Given the description of an element on the screen output the (x, y) to click on. 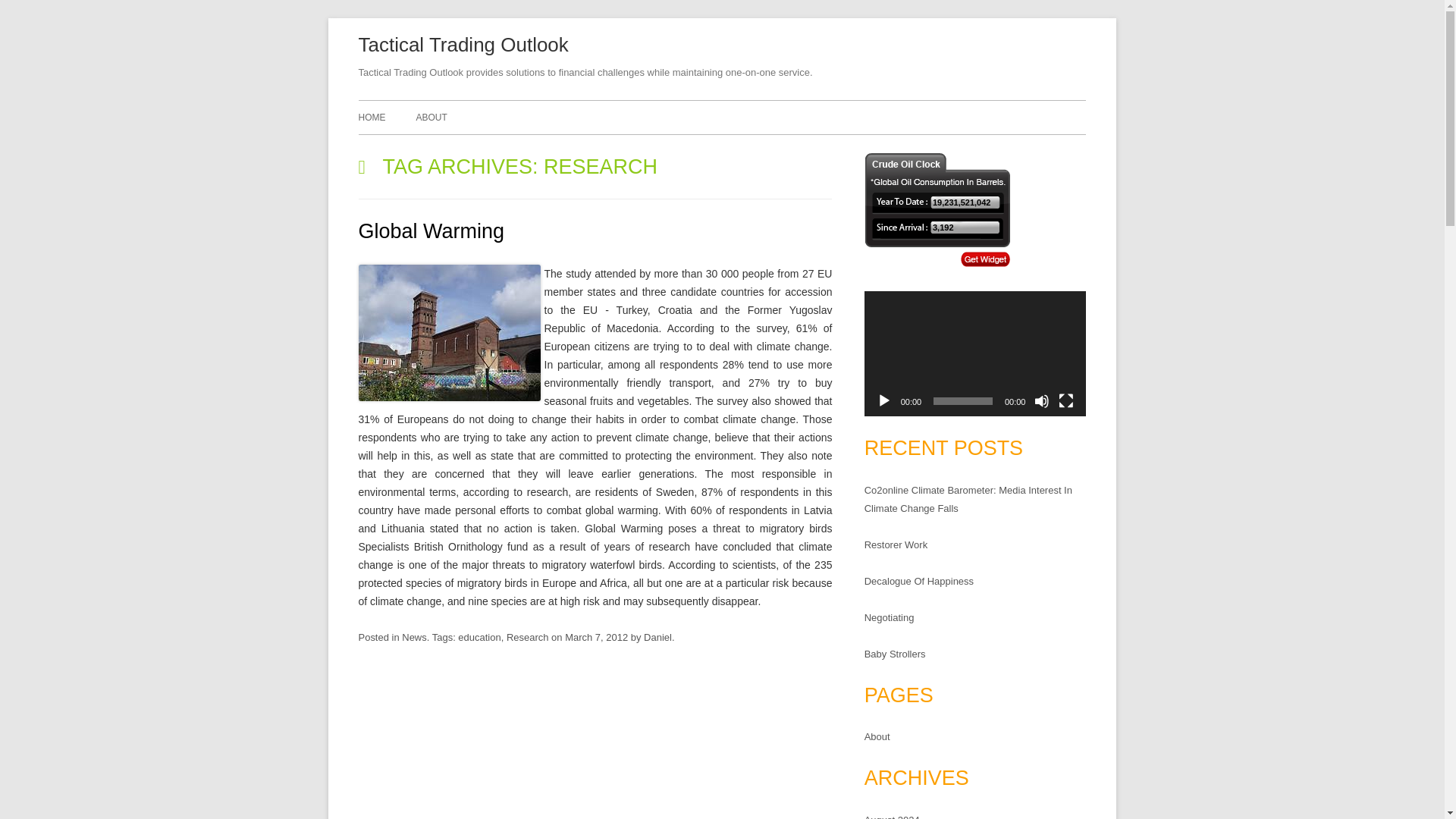
View all posts by Daniel (657, 636)
ABOUT (430, 117)
education (479, 636)
Restorer Work (895, 544)
OilPrice.com (937, 209)
Play (883, 400)
Mute (1041, 400)
Fullscreen (1066, 400)
